Given the description of an element on the screen output the (x, y) to click on. 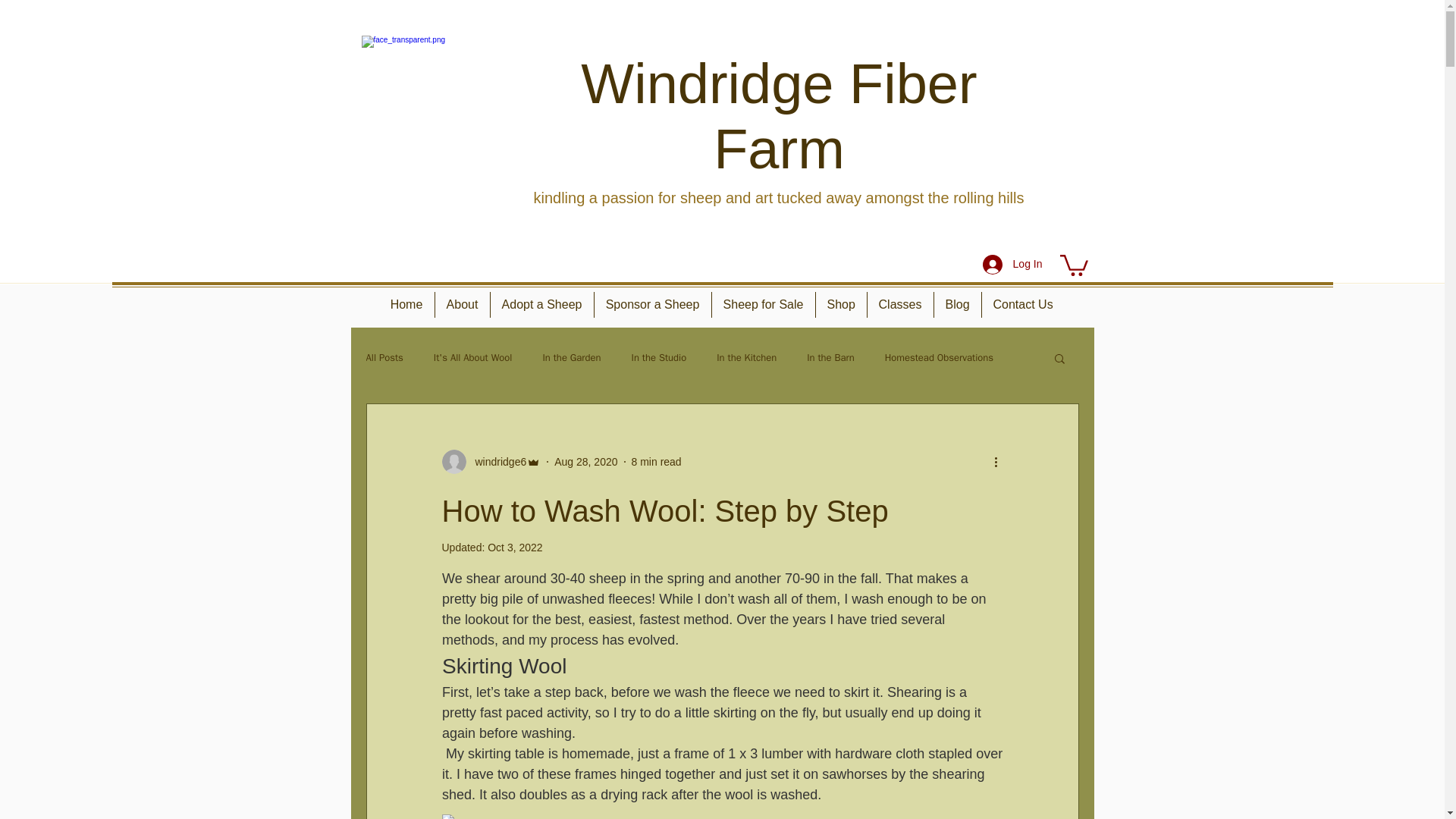
In the Studio (659, 357)
Sheep for Sale (762, 304)
About (462, 304)
Homestead Observations (938, 357)
Log In (1012, 264)
Home (405, 304)
All Posts (384, 357)
Oct 3, 2022 (514, 547)
8 min read (656, 461)
windridge6 (495, 462)
In the Garden (570, 357)
Blog (957, 304)
In the Kitchen (746, 357)
Contact Us (1022, 304)
Windridge Fiber Farm (778, 116)
